Given the description of an element on the screen output the (x, y) to click on. 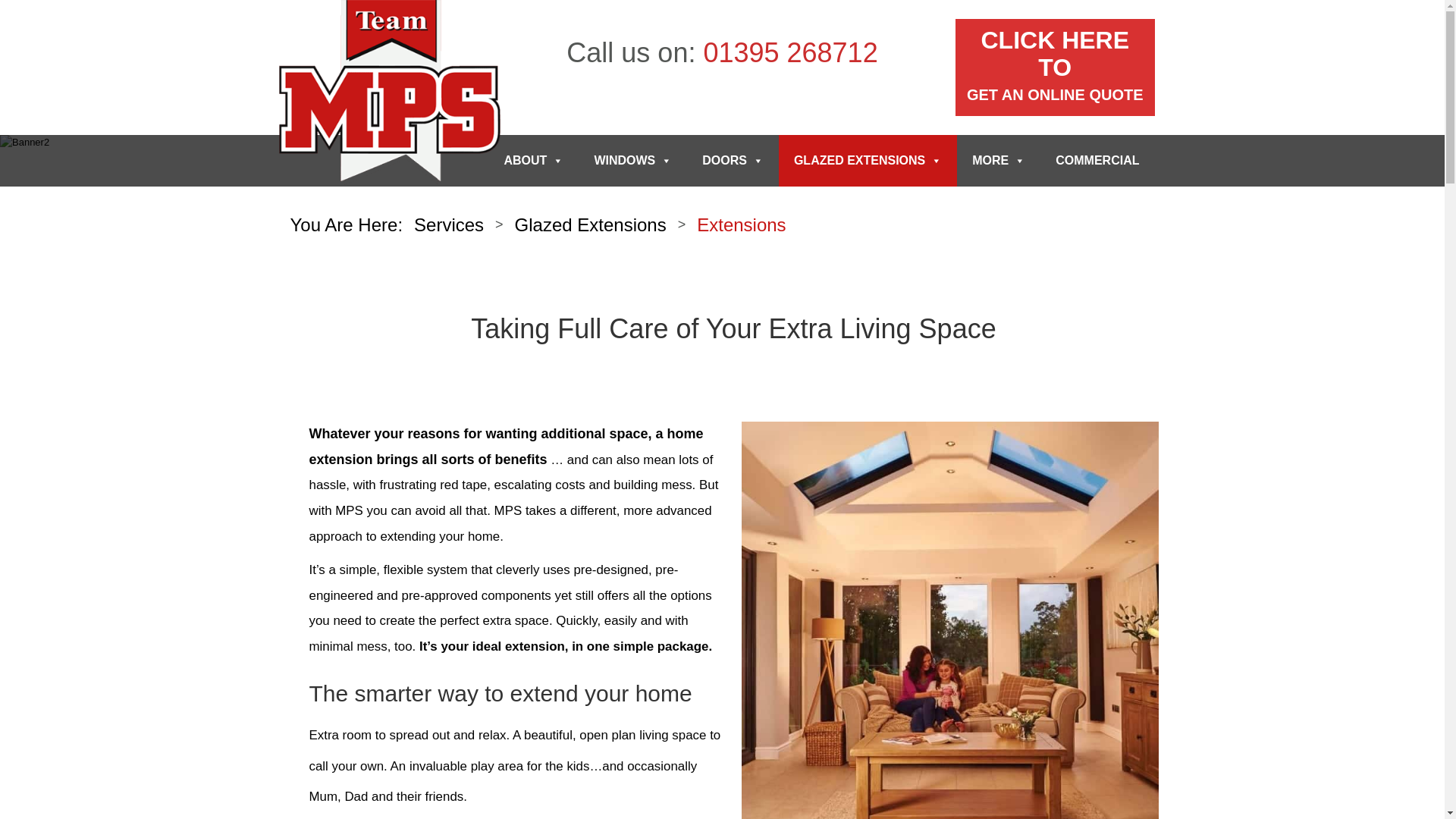
Logo (389, 92)
Extensions (1054, 67)
01395 268712 (741, 223)
WINDOWS (790, 51)
DOORS (632, 160)
ABOUT (732, 160)
Glazed Extensions (532, 160)
Services (590, 223)
